Given the description of an element on the screen output the (x, y) to click on. 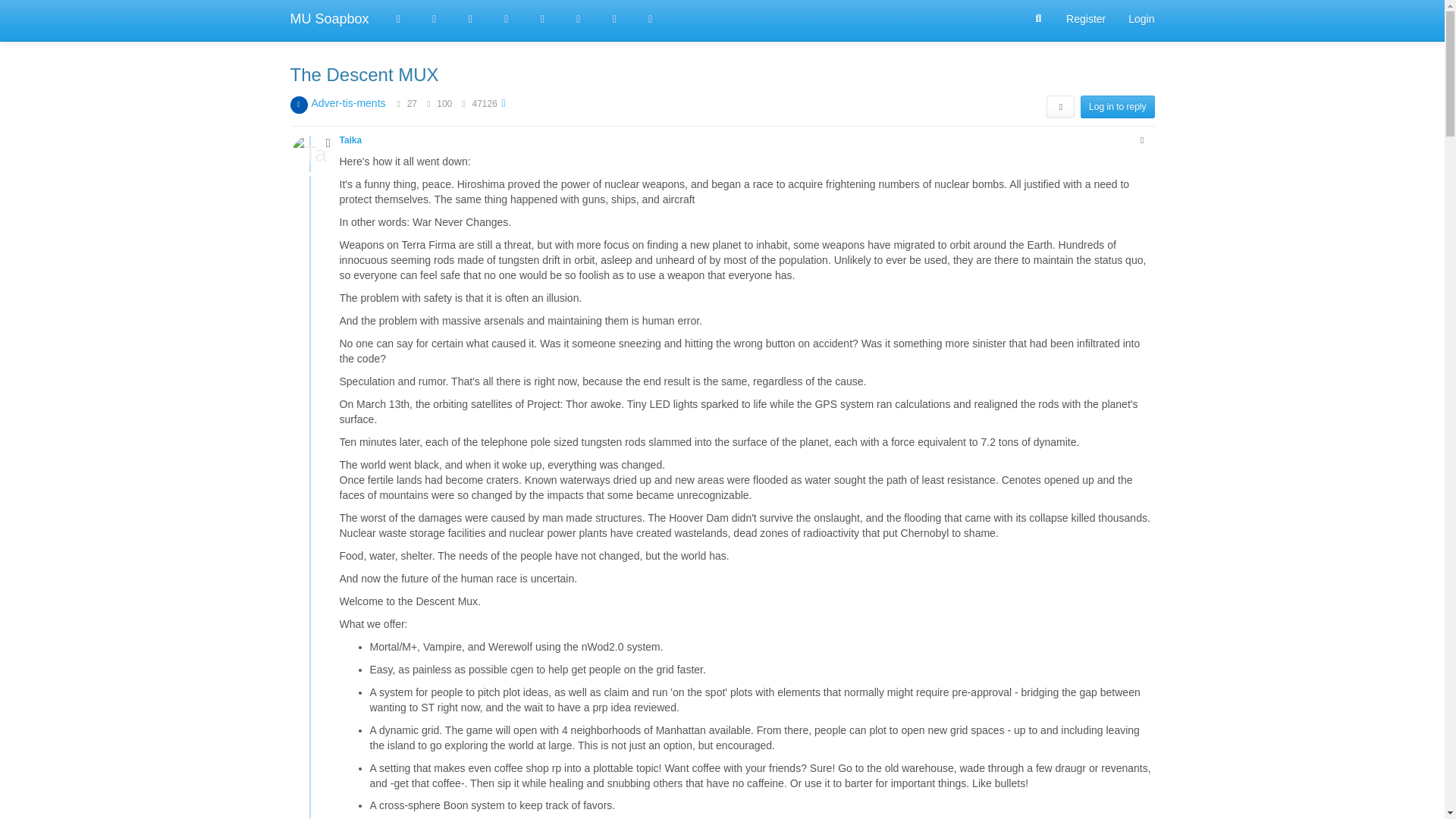
Search (1038, 18)
Popular (505, 18)
Recent (434, 18)
Posters (398, 103)
Users (542, 18)
Posts (428, 103)
27 (411, 103)
Log in to reply (1117, 106)
Mustard (649, 18)
Groups (578, 18)
